Given the description of an element on the screen output the (x, y) to click on. 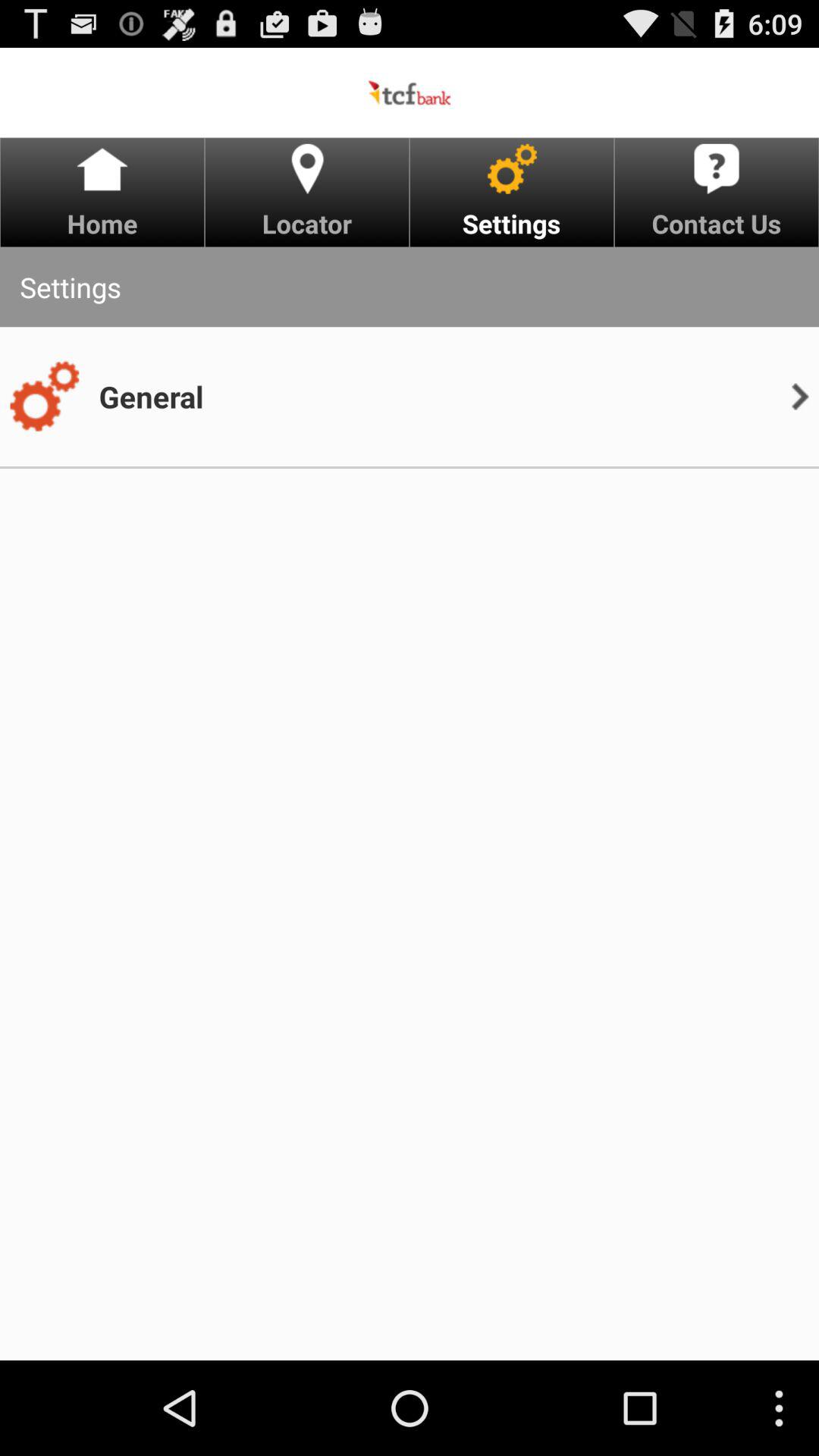
open app below settings (150, 396)
